Given the description of an element on the screen output the (x, y) to click on. 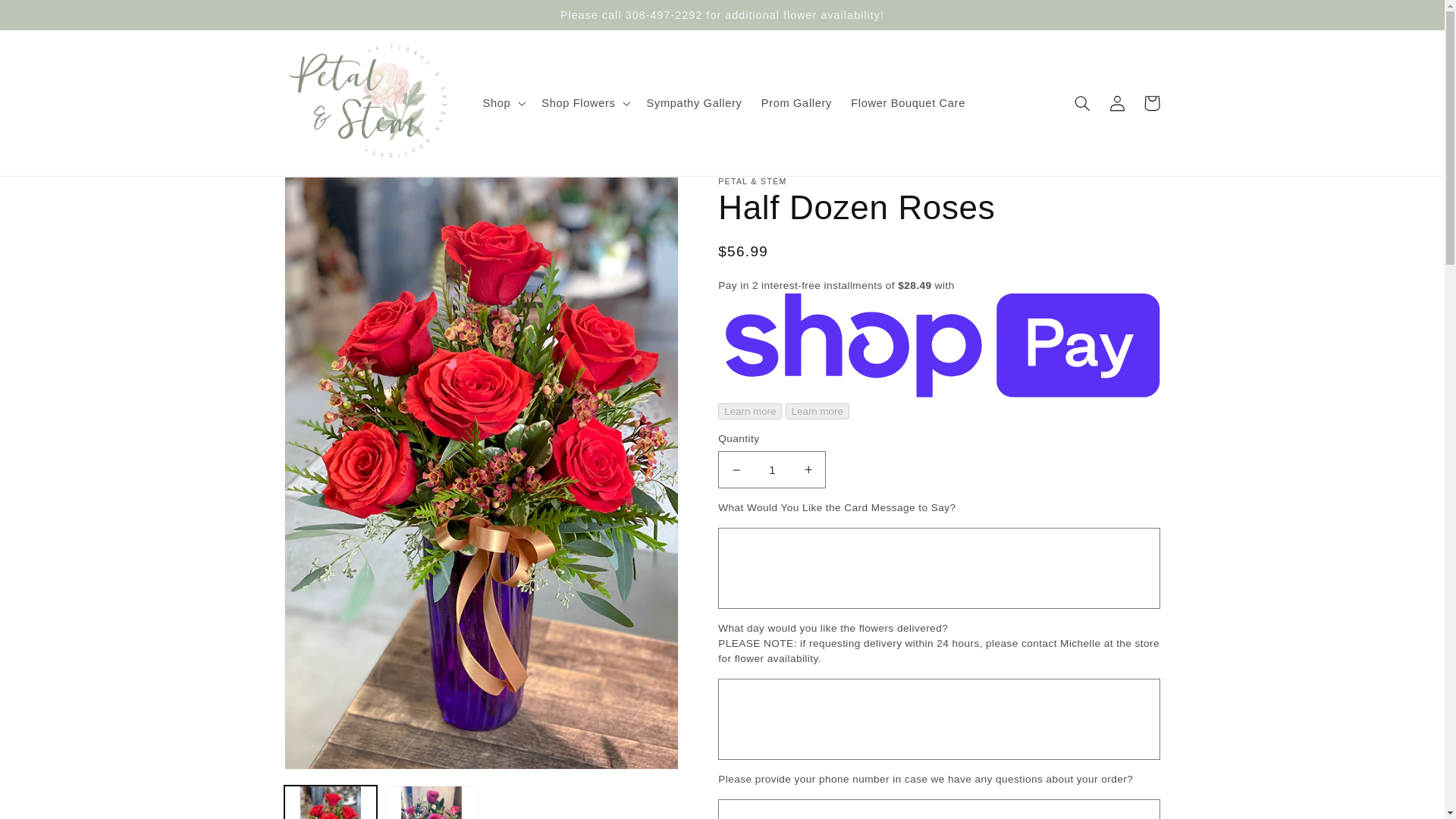
1 (771, 469)
Skip to content (48, 18)
